Given the description of an element on the screen output the (x, y) to click on. 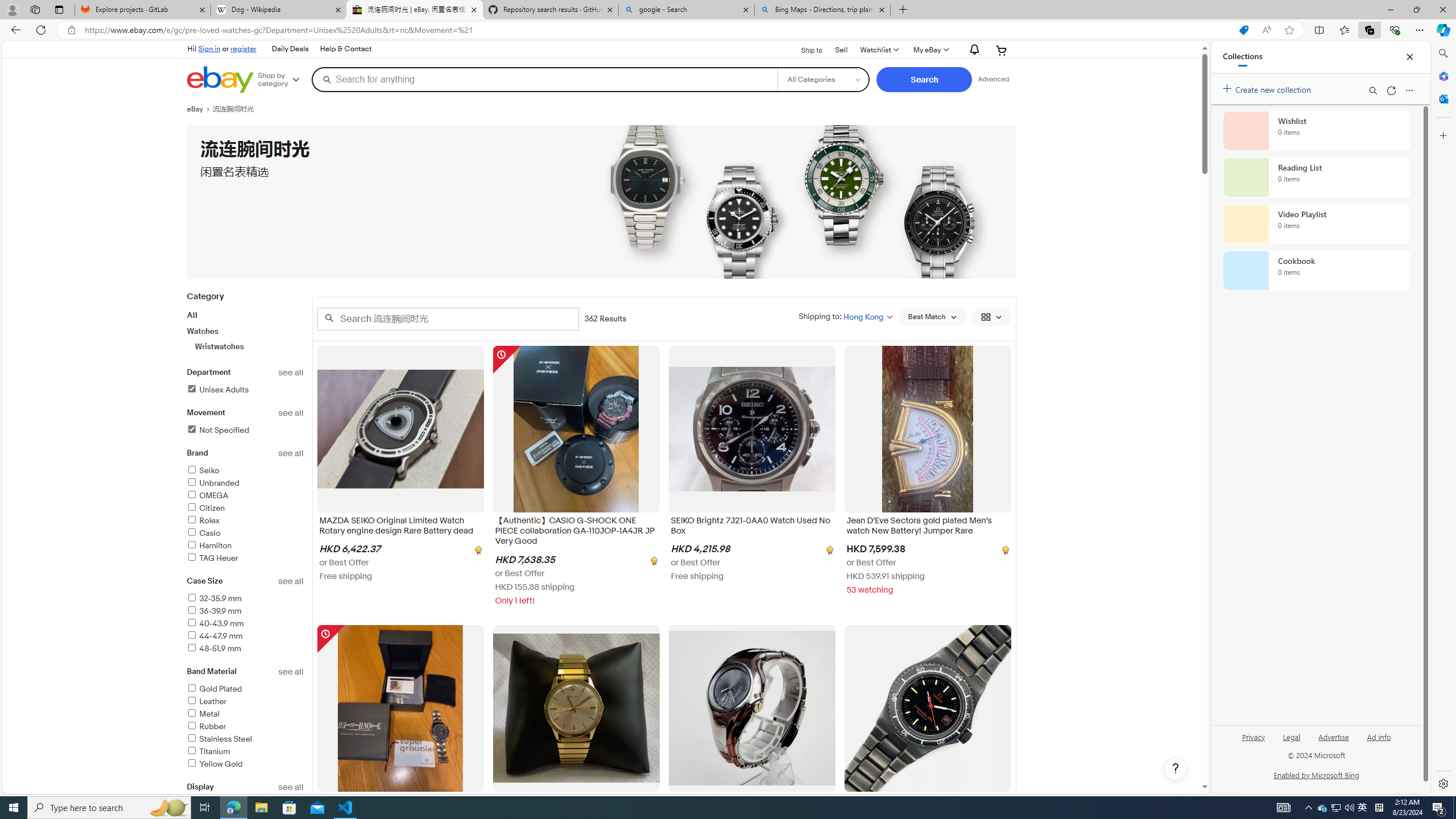
WatchlistExpand Watch List (878, 49)
Advertise (1333, 736)
36-39.9 mm (213, 610)
Leather (245, 701)
Shipping to: Hong Kong (845, 316)
Customize (1442, 135)
Hamilton (208, 545)
Sell (841, 49)
See all department refinements (291, 372)
44-47.9 mm (245, 636)
40-43.9 mm (215, 623)
